Given the description of an element on the screen output the (x, y) to click on. 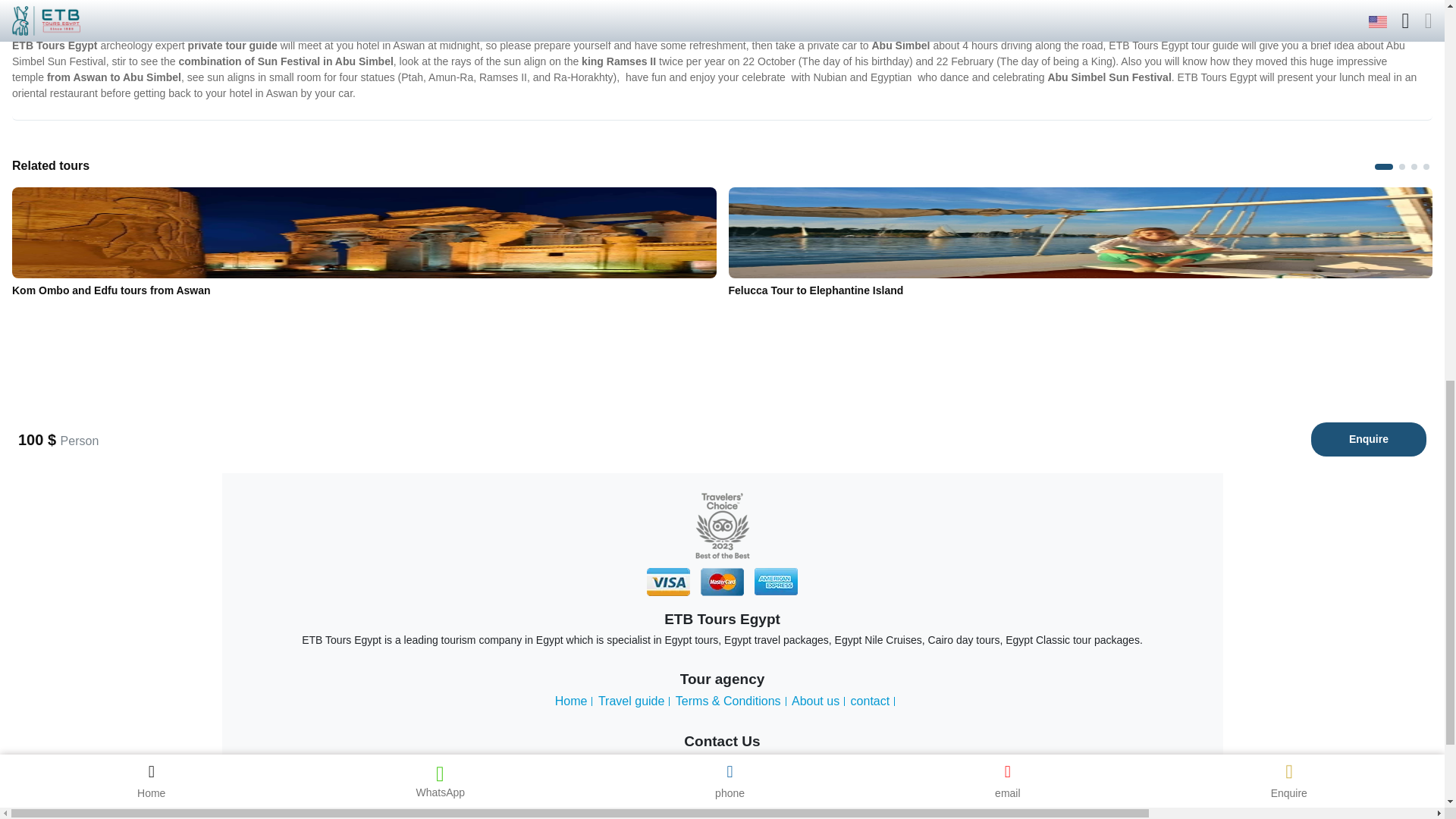
Felucca Tour to Elephantine Island (1080, 232)
ETB Tours Egypt (775, 582)
ETB Tours Egypt (722, 582)
ETB Tours Egypt (668, 582)
ETB Tours Egypt (722, 526)
Kom Ombo and Edfu tours from Aswan (363, 232)
